Given the description of an element on the screen output the (x, y) to click on. 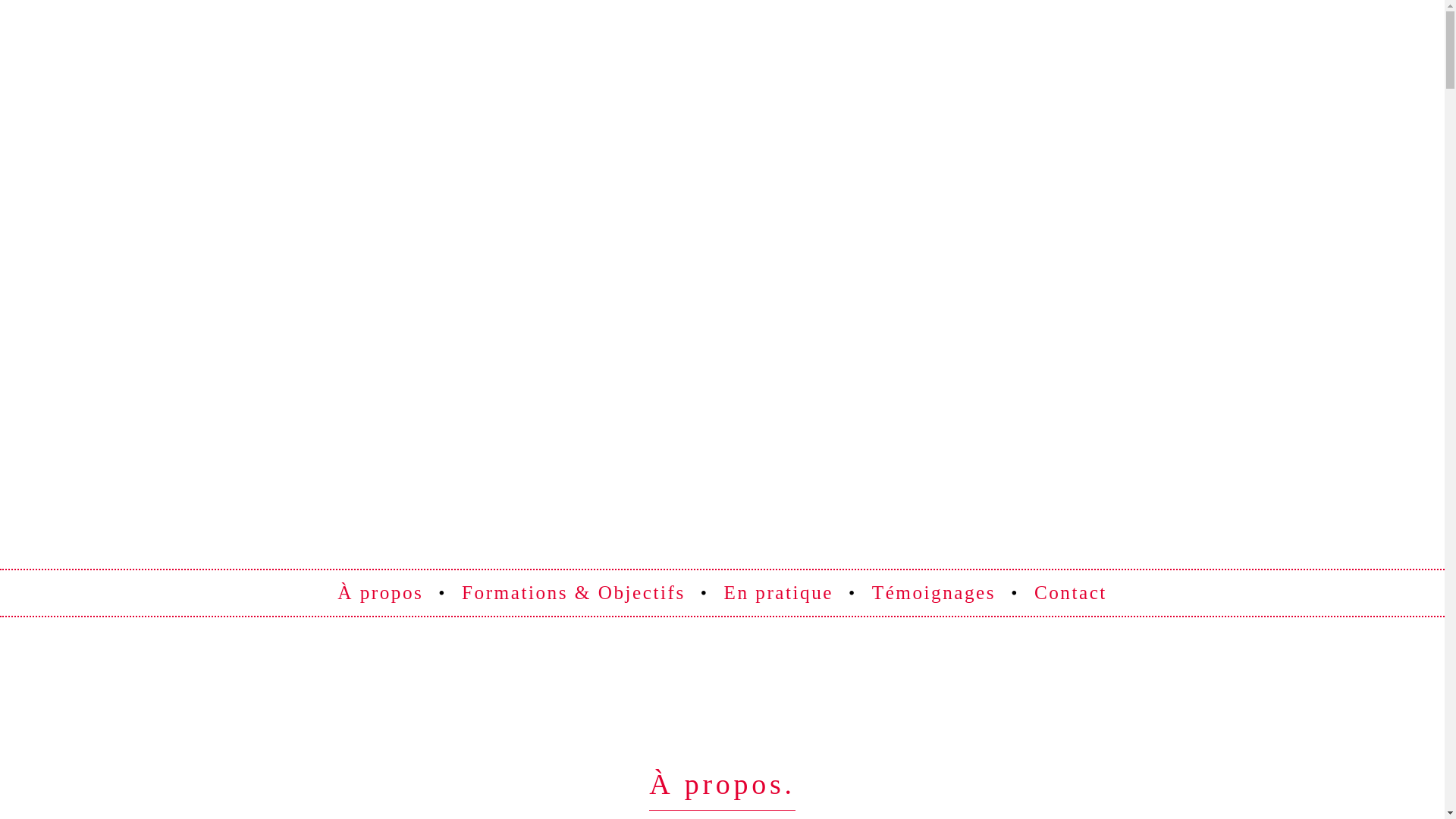
Formations & Objectifs Element type: text (573, 592)
En pratique Element type: text (778, 592)
Contact Element type: text (1070, 592)
